Given the description of an element on the screen output the (x, y) to click on. 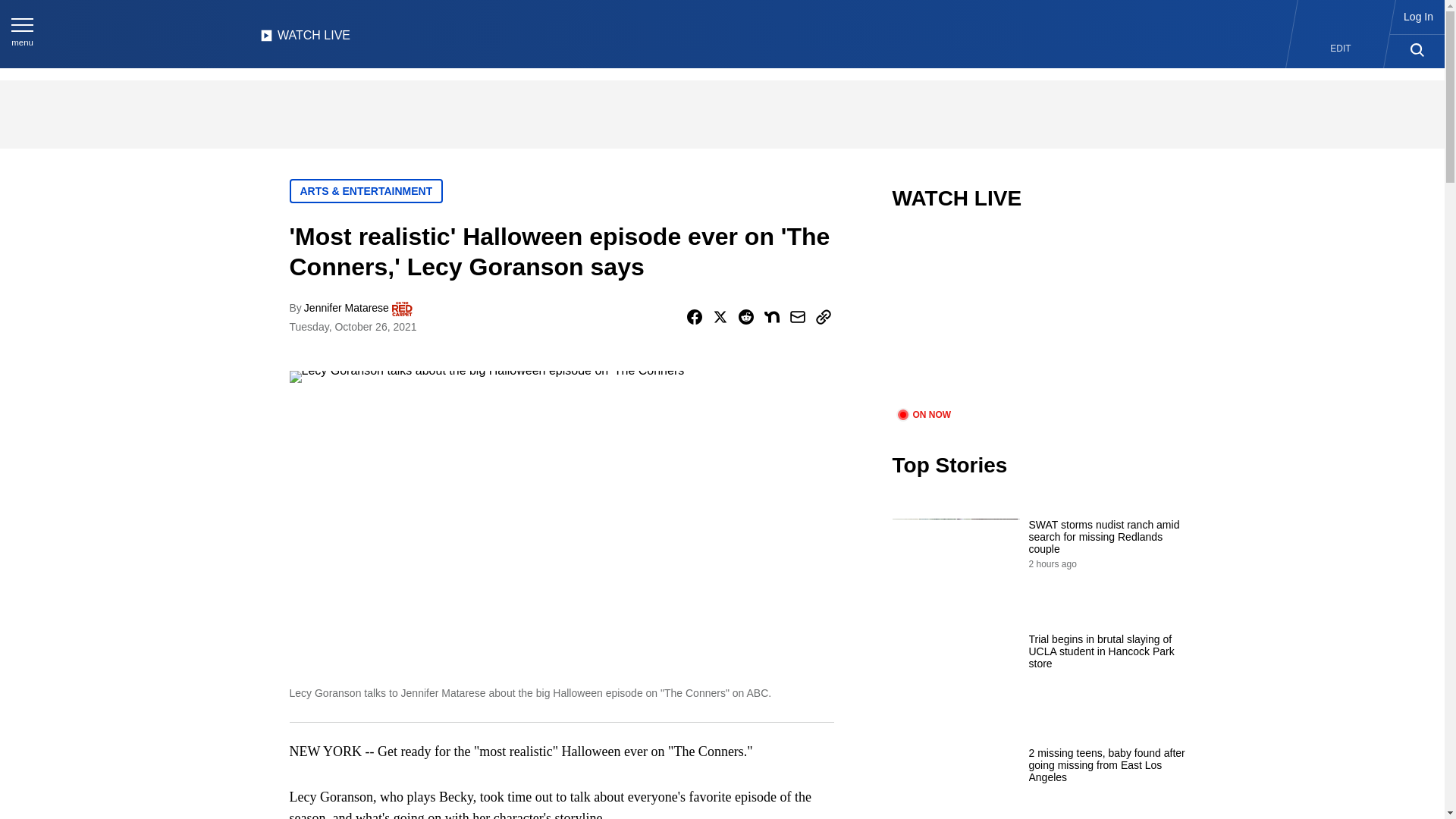
WATCH LIVE (305, 39)
EDIT (1340, 48)
video.title (1043, 318)
